Given the description of an element on the screen output the (x, y) to click on. 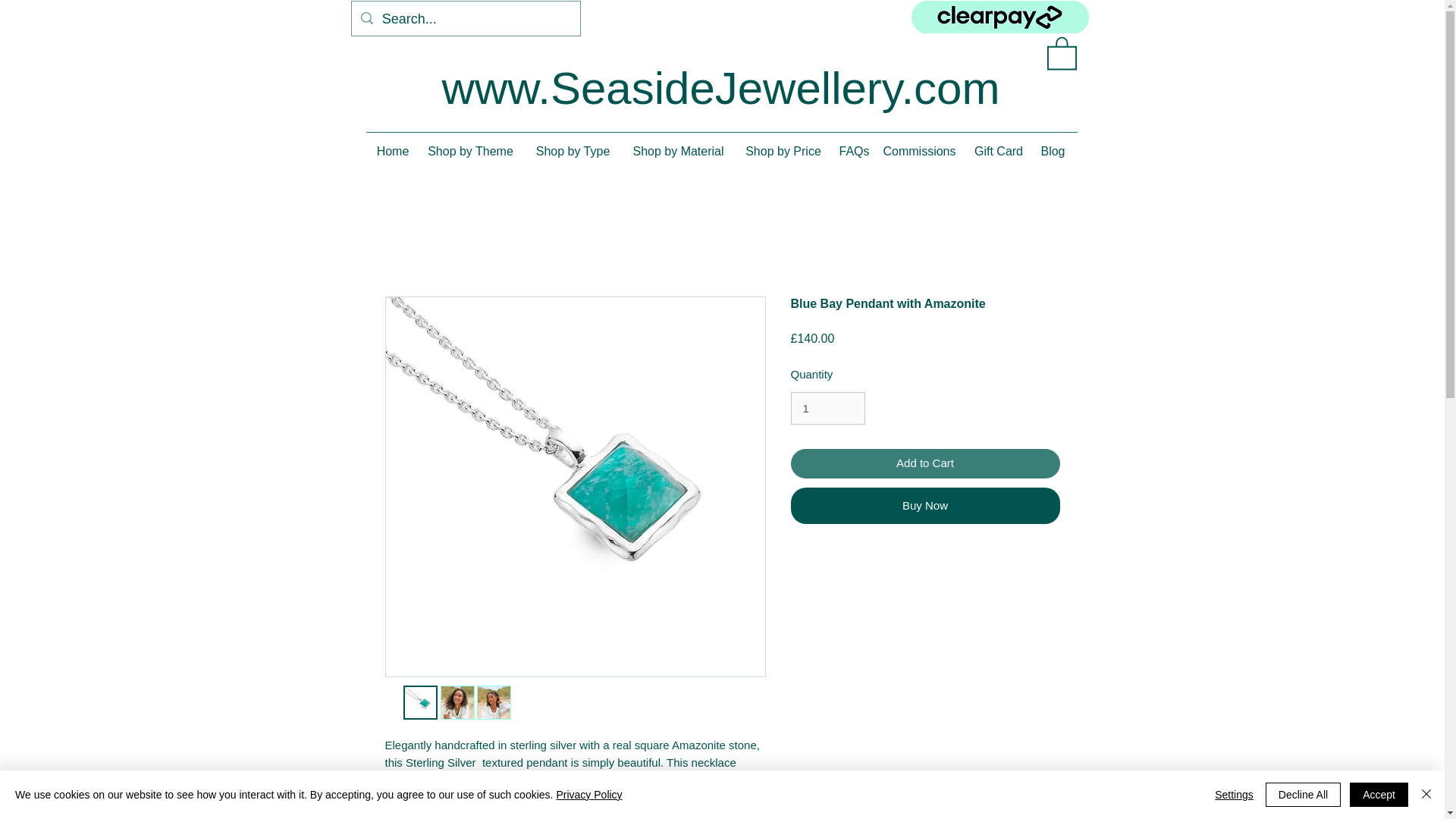
1 (827, 408)
Shop by Type (572, 151)
Shop by Material (678, 151)
Home (392, 151)
Shop by Theme (470, 151)
www.SeasideJewellery.com (721, 88)
